Given the description of an element on the screen output the (x, y) to click on. 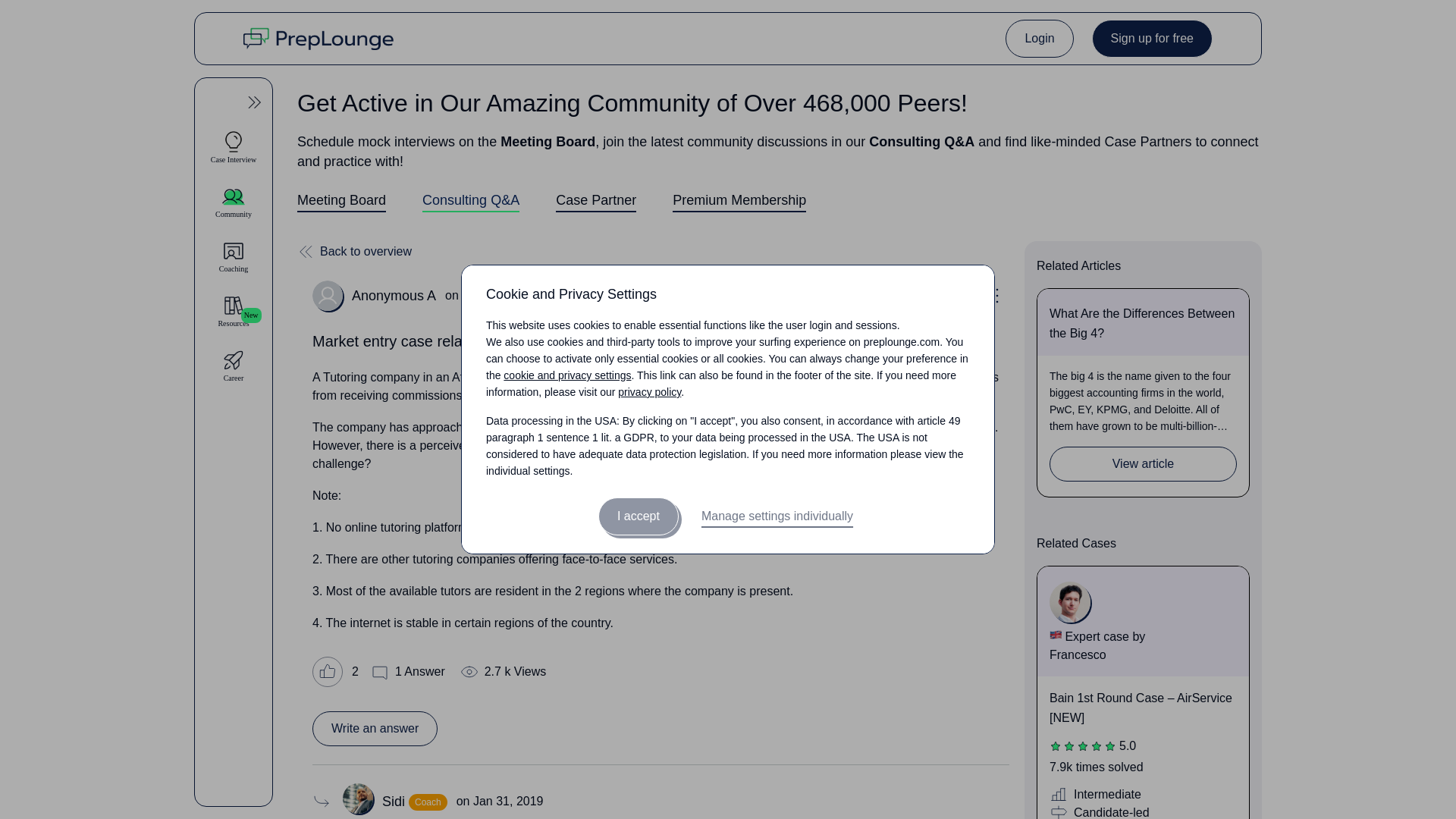
Case Interview (233, 147)
Login (1039, 38)
Sign up for free (1152, 38)
Community (233, 202)
